Given the description of an element on the screen output the (x, y) to click on. 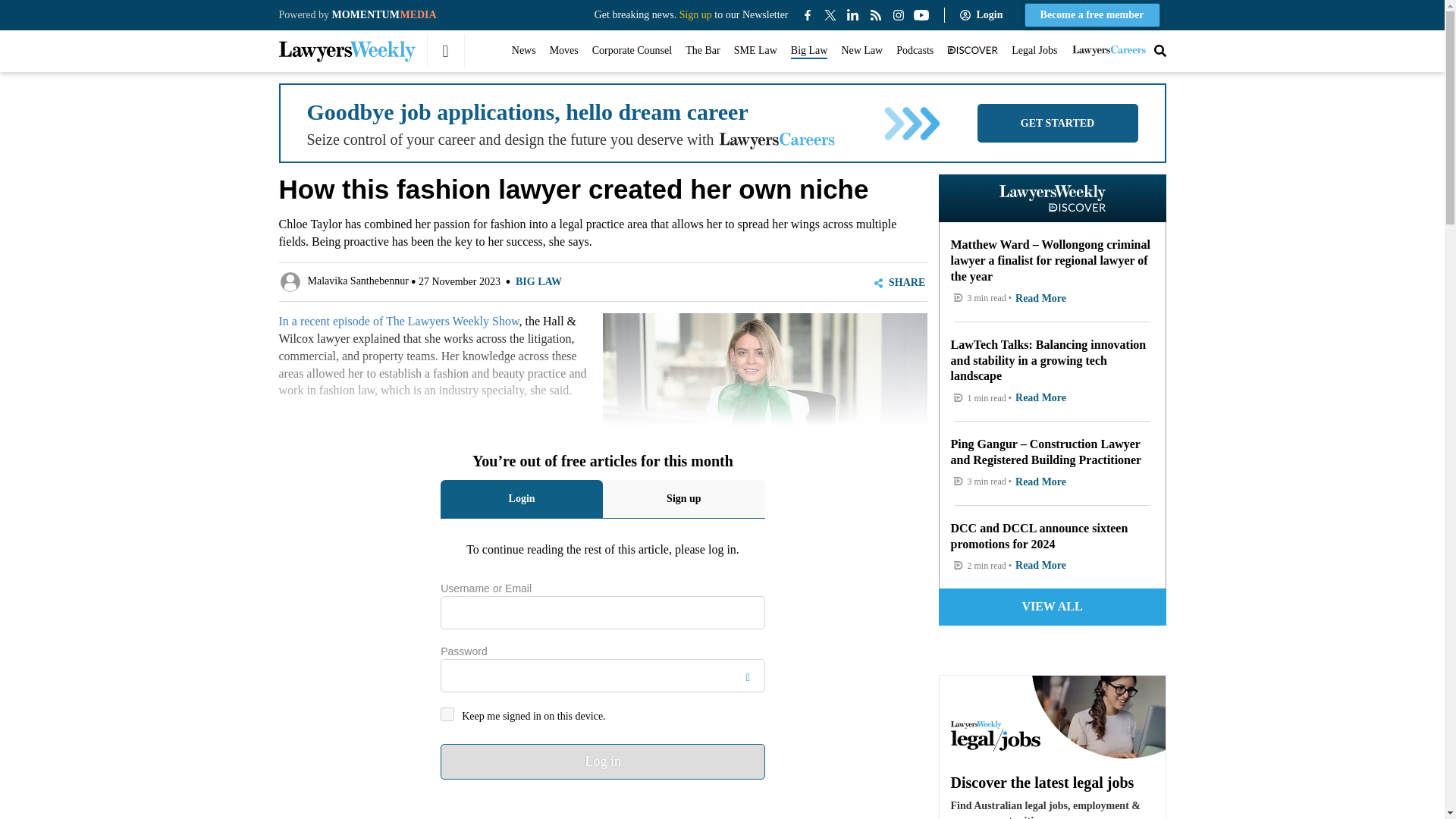
on (447, 714)
Become a free member (1092, 15)
MOMENTUM MEDIA (383, 14)
Log in (603, 761)
Sign up (695, 14)
